Given the description of an element on the screen output the (x, y) to click on. 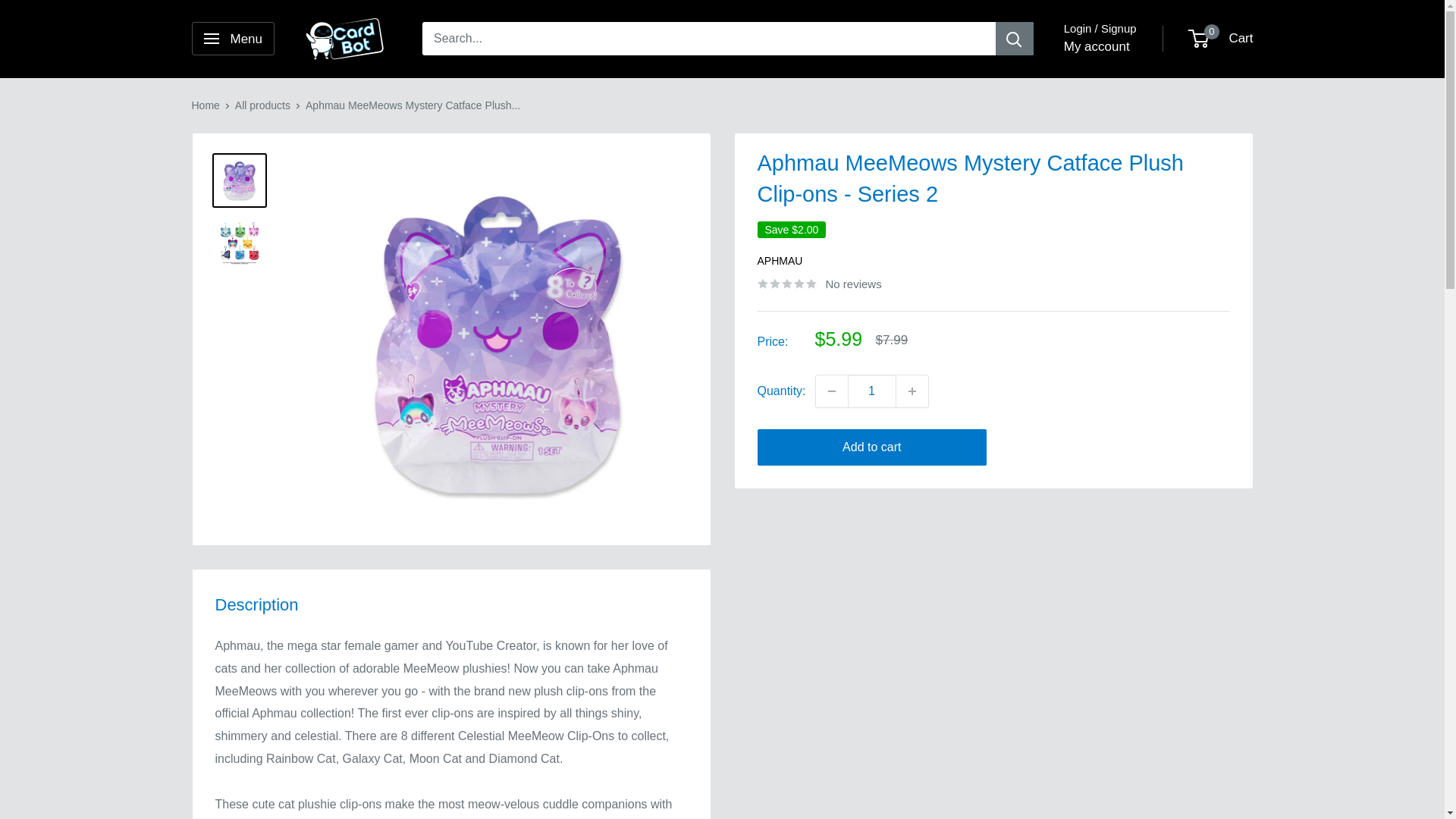
Decrease quantity by 1 (831, 391)
1 (871, 391)
Increase quantity by 1 (912, 391)
